Given the description of an element on the screen output the (x, y) to click on. 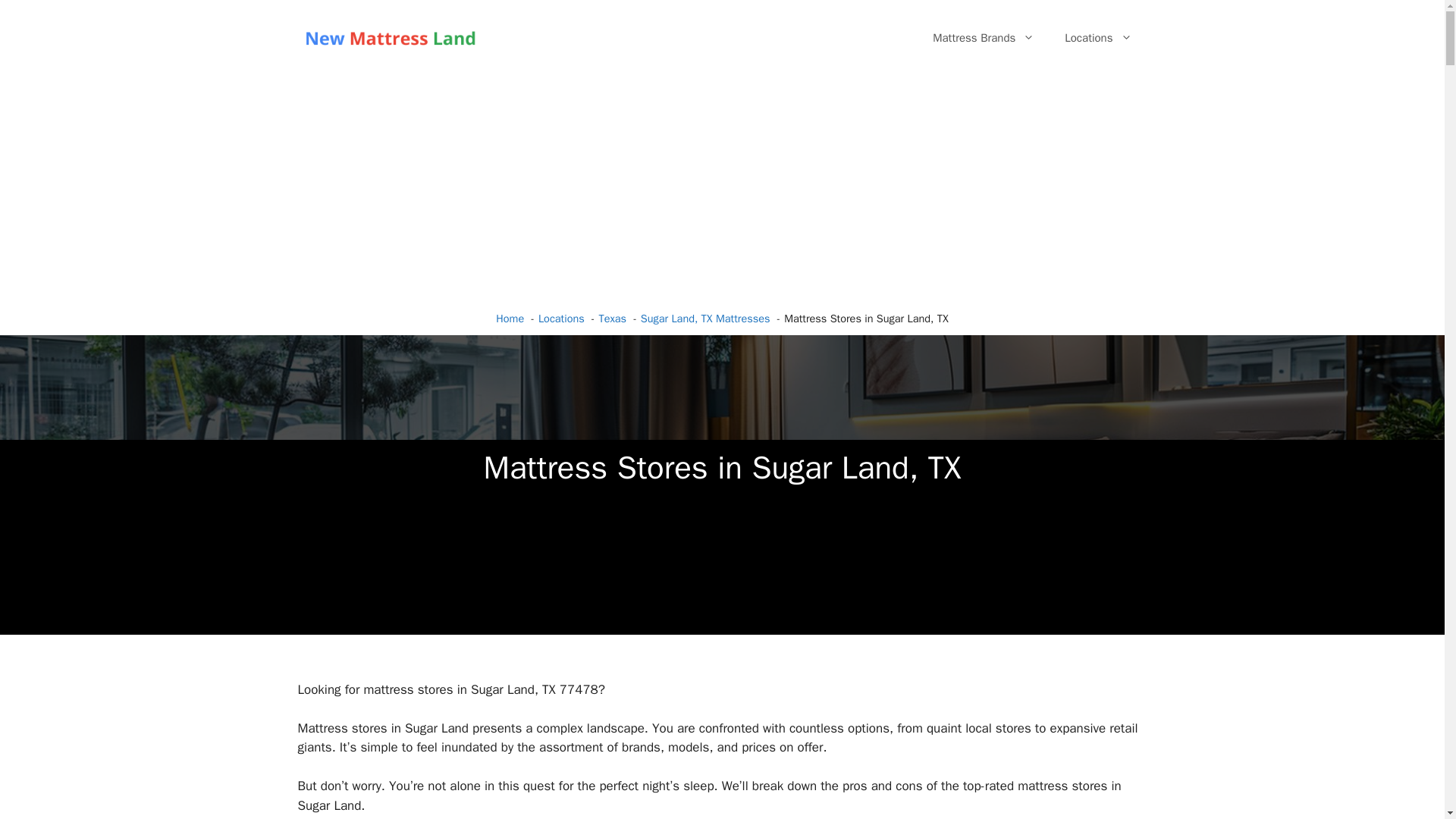
Locations (1098, 37)
Mattress Brands (983, 37)
